Given the description of an element on the screen output the (x, y) to click on. 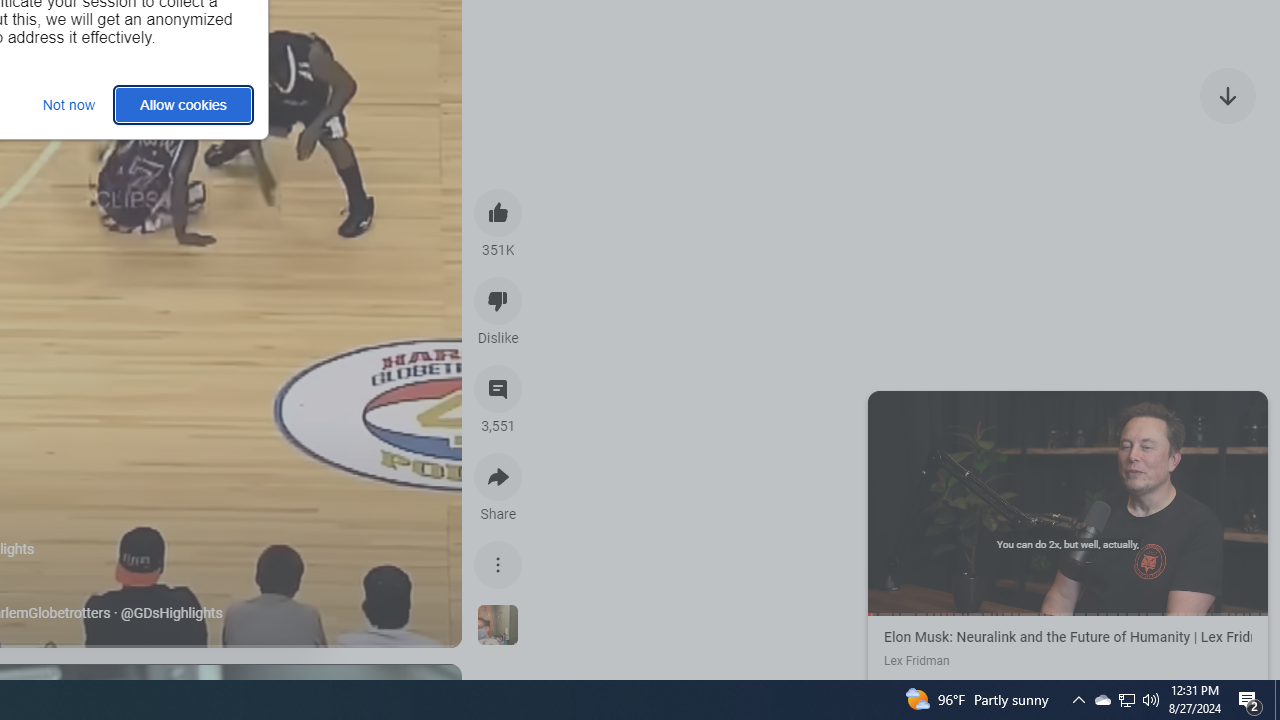
View 3,551 comments (498, 389)
